Given the description of an element on the screen output the (x, y) to click on. 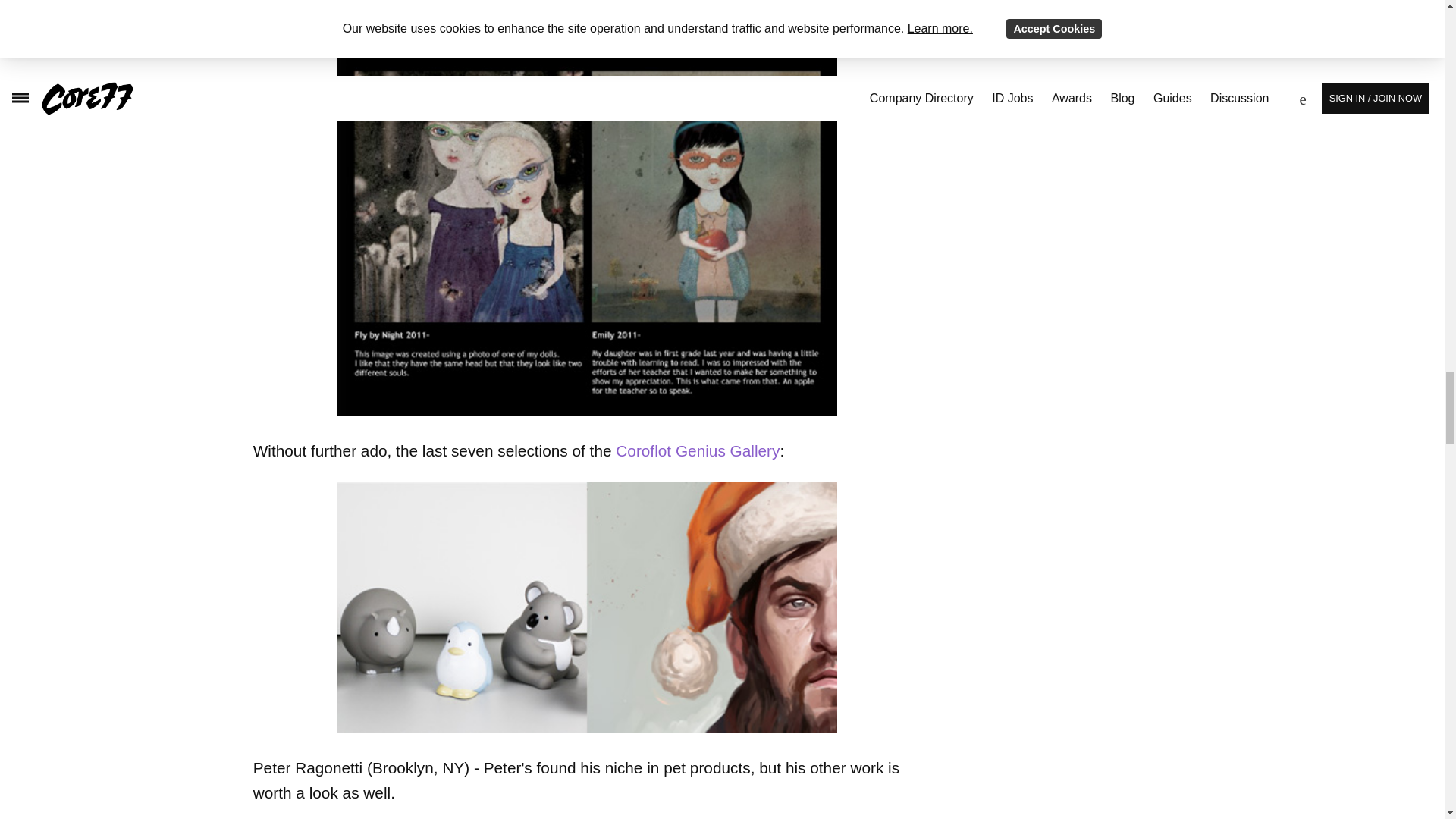
Coroflot Genius Gallery (696, 451)
